Given the description of an element on the screen output the (x, y) to click on. 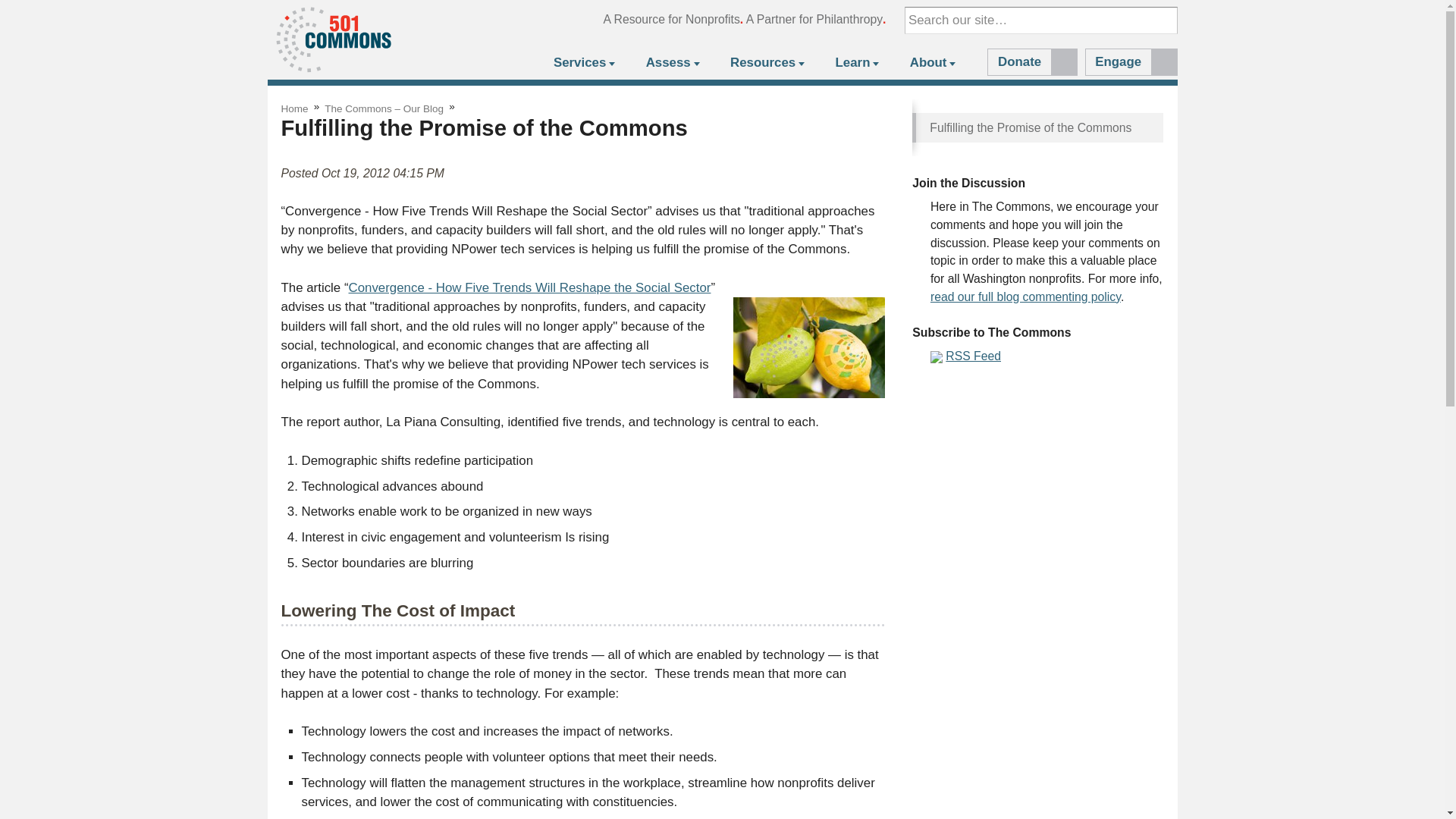
Assess (671, 64)
Services (583, 64)
About (930, 64)
Resources (766, 64)
Learn (855, 64)
501 Commons (333, 39)
